Given the description of an element on the screen output the (x, y) to click on. 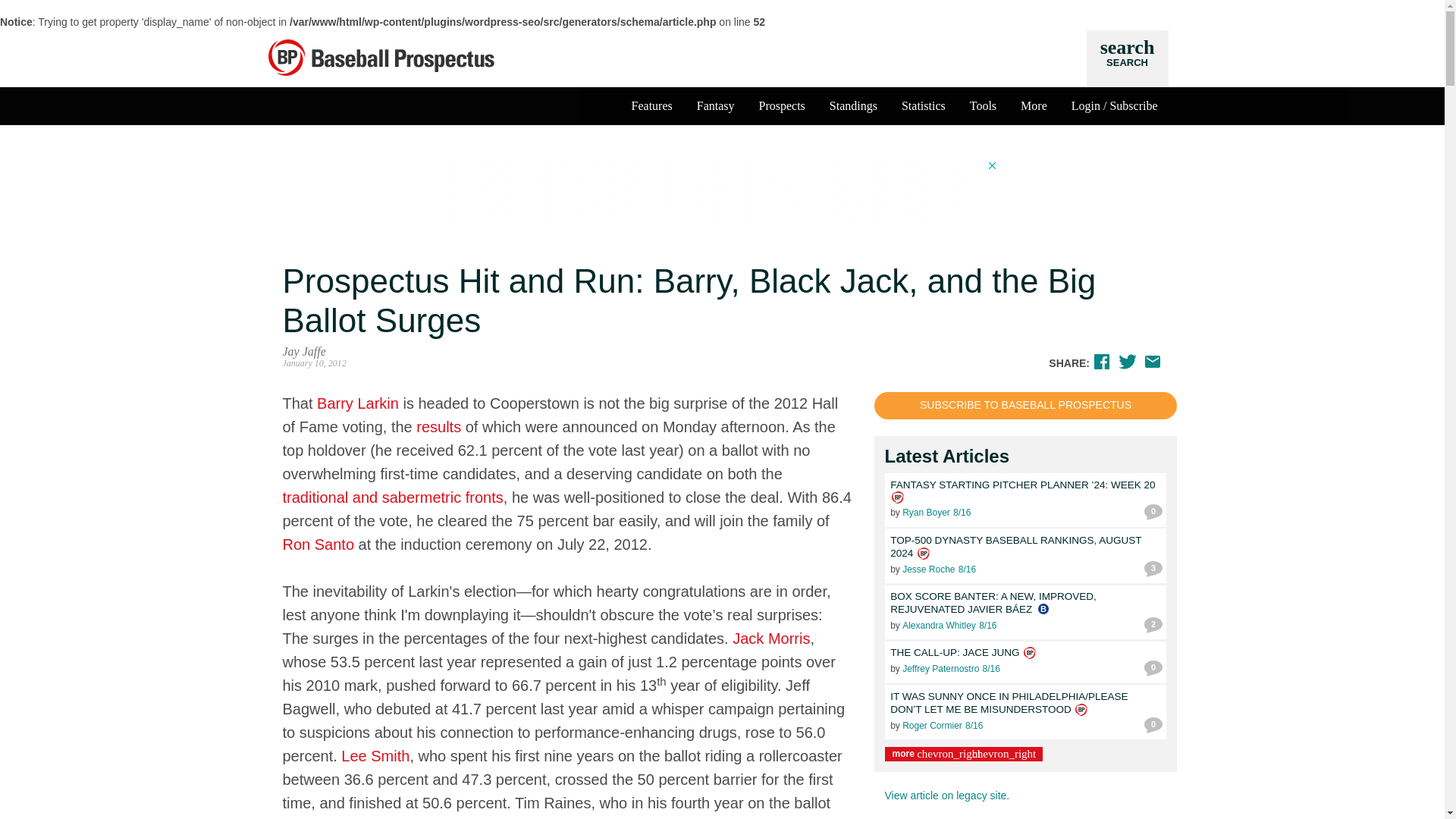
Posts by Alexandra Whitley (938, 625)
GO (1036, 56)
available to Premium Subscribers (1126, 58)
Prospects (923, 553)
available to Premium Subscribers (781, 105)
Posts by Ryan Boyer (1029, 653)
Posts by Jesse Roche (926, 512)
Fantasy (928, 569)
Posts by Jeffrey Paternostro (715, 105)
